Given the description of an element on the screen output the (x, y) to click on. 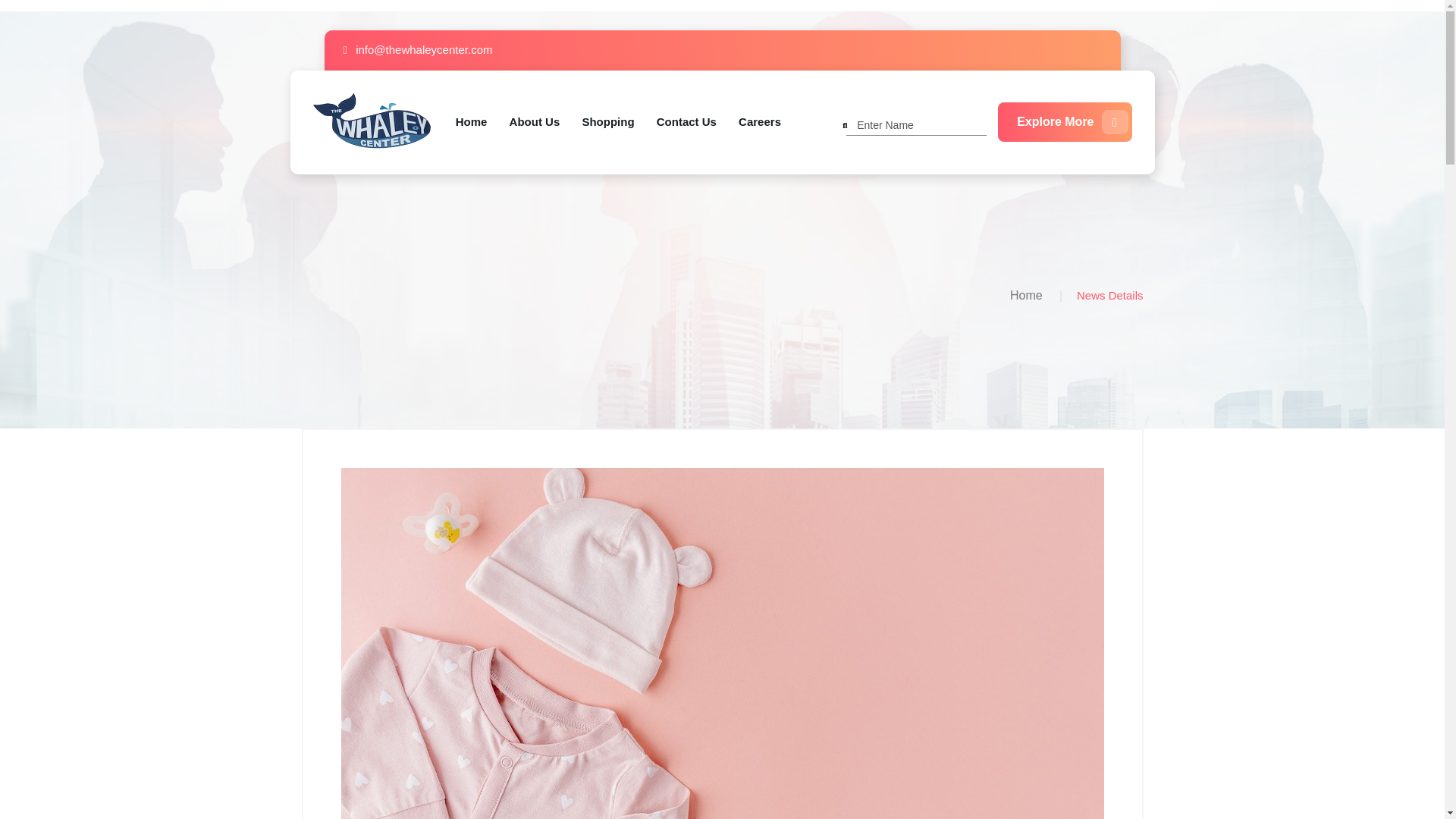
Shopping (606, 122)
Shopping (606, 122)
About Us (534, 122)
Contact Us (686, 122)
Explore More (1064, 121)
Contact Us (686, 122)
Careers (759, 122)
About Us (534, 122)
Home (1026, 295)
Careers (759, 122)
